Given the description of an element on the screen output the (x, y) to click on. 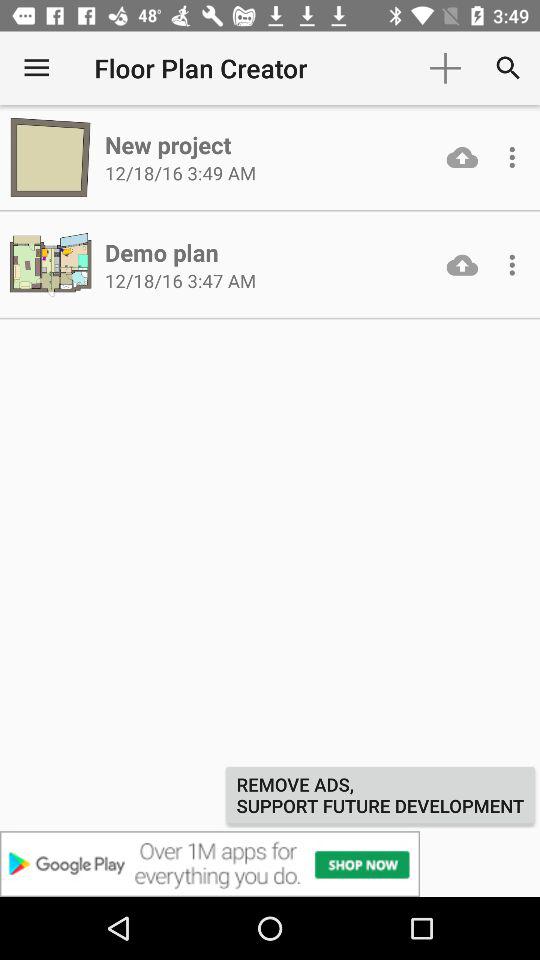
download (462, 264)
